Given the description of an element on the screen output the (x, y) to click on. 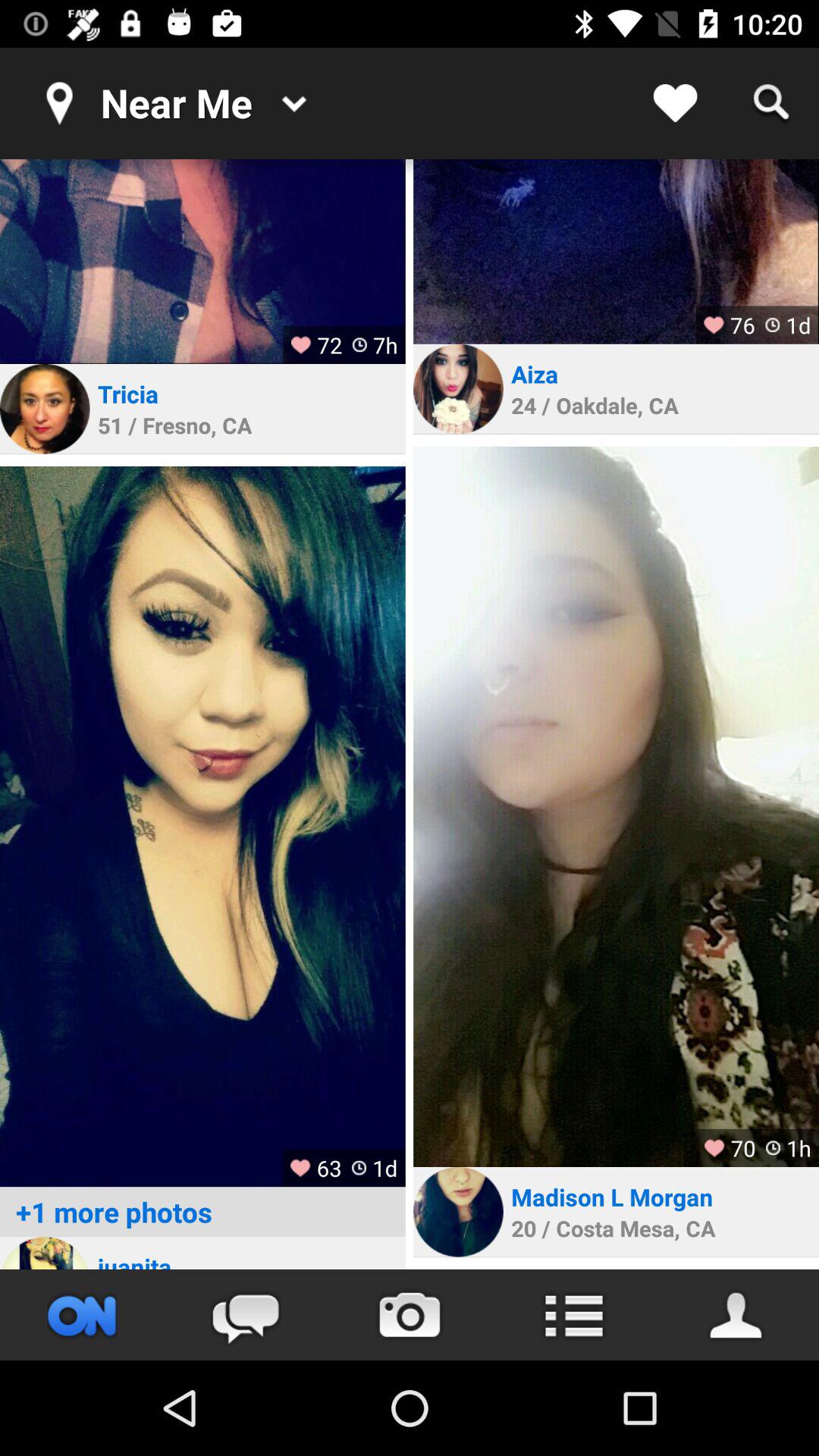
advertisement (616, 251)
